Given the description of an element on the screen output the (x, y) to click on. 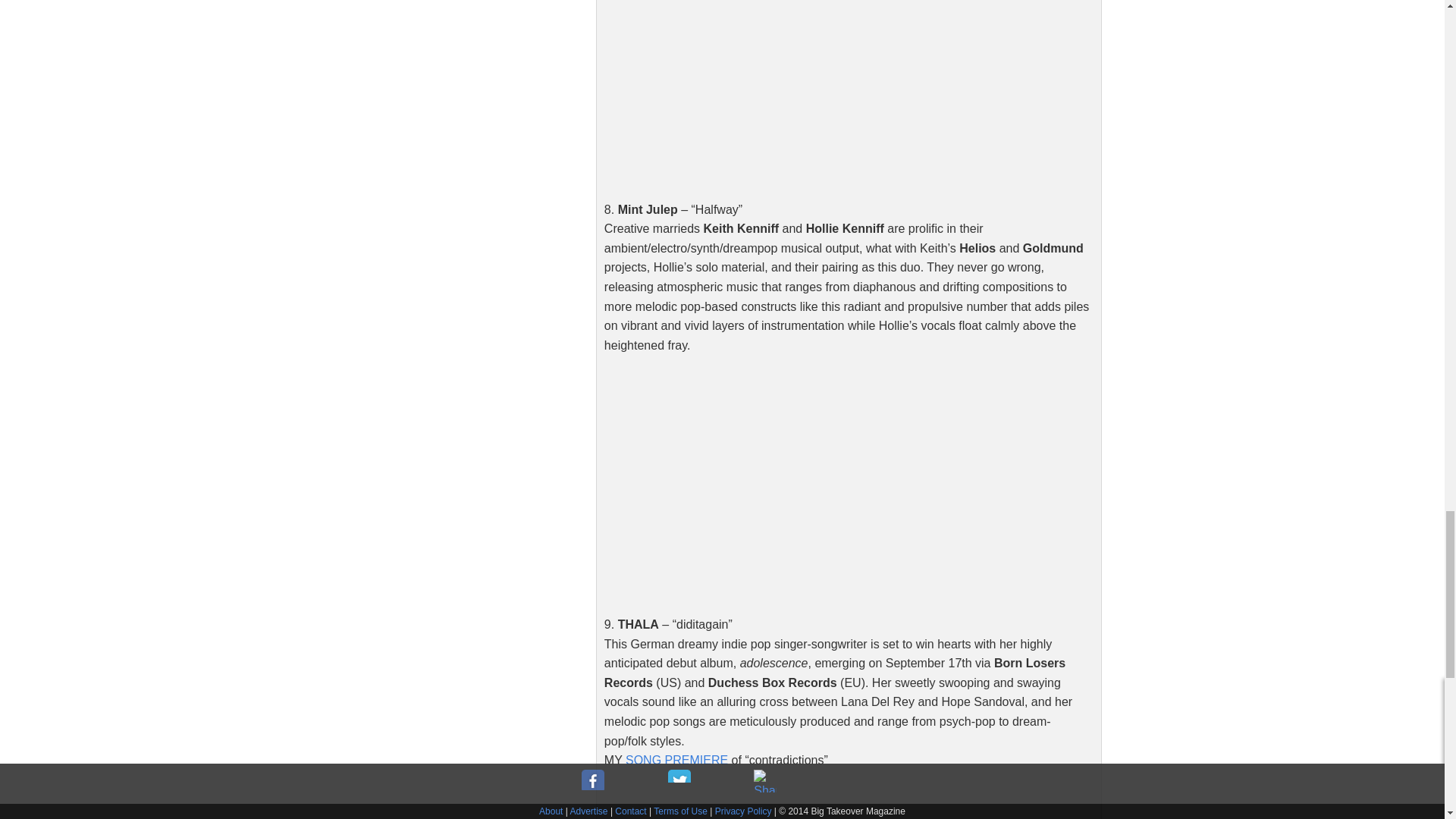
YouTube video player (816, 798)
SONG PREMIERE (677, 759)
YouTube video player (816, 93)
YouTube video player (816, 481)
